Given the description of an element on the screen output the (x, y) to click on. 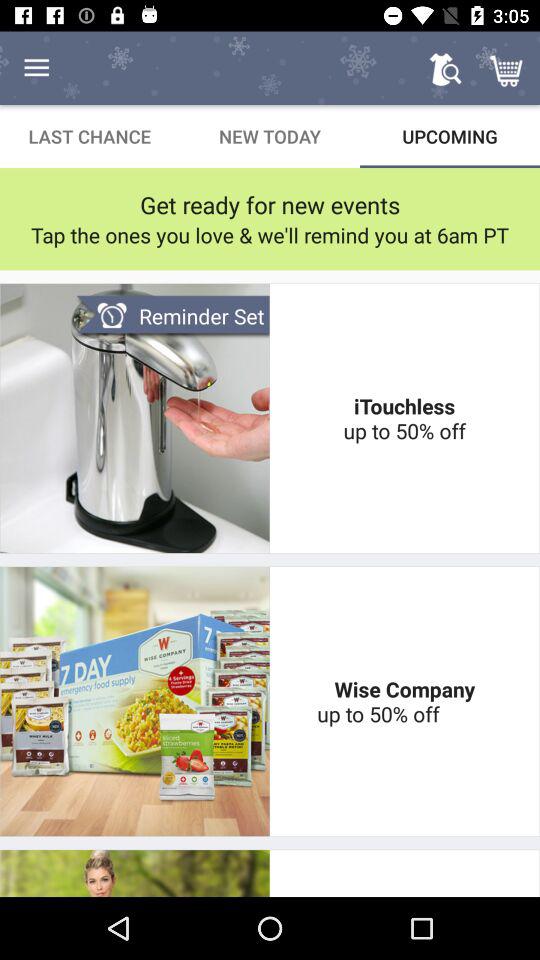
tap icon below the get ready for (270, 234)
